Given the description of an element on the screen output the (x, y) to click on. 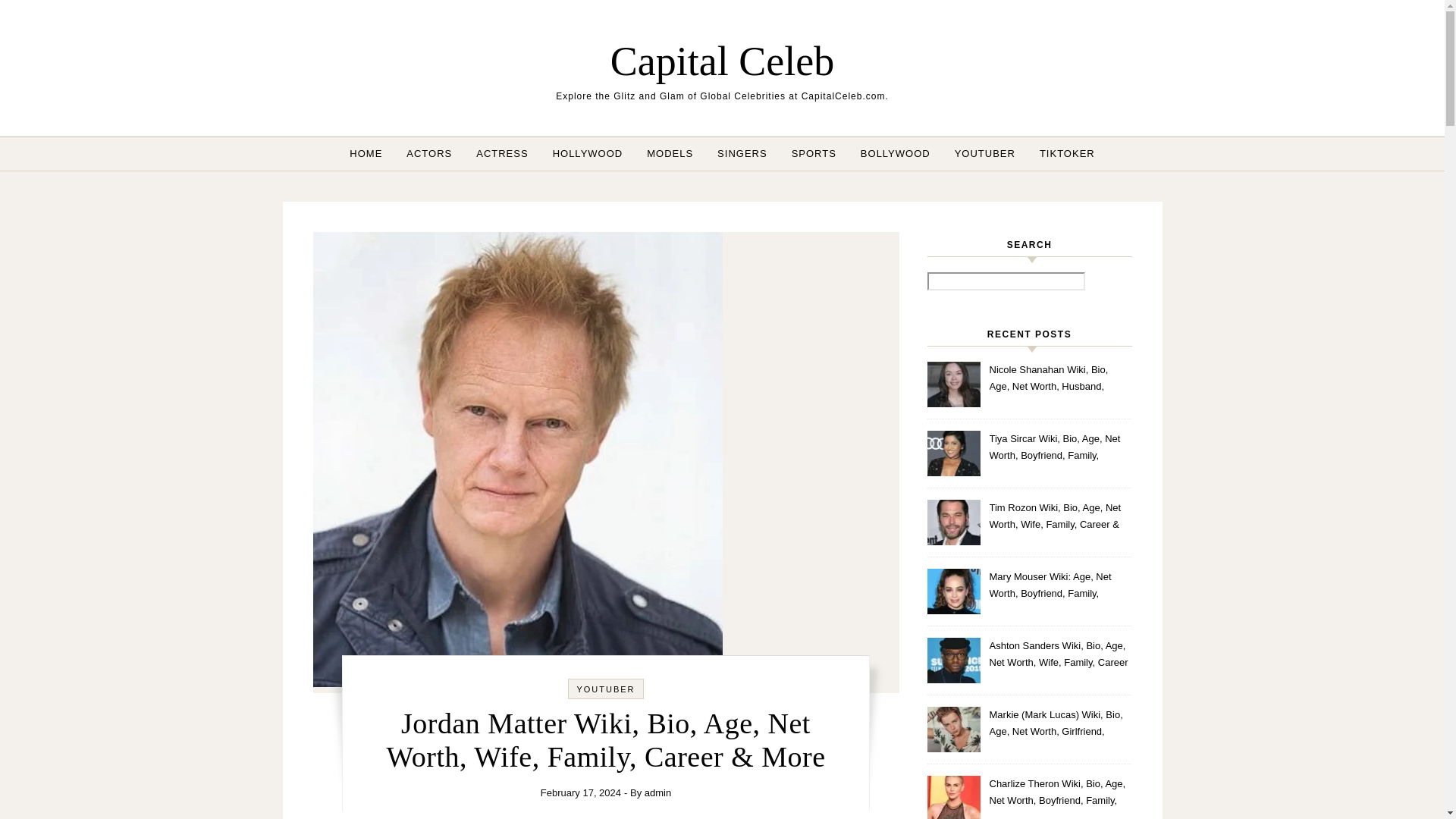
admin (658, 792)
TIKTOKER (1060, 153)
BOLLYWOOD (895, 153)
MODELS (669, 153)
SPORTS (813, 153)
YOUTUBER (605, 688)
HOLLYWOOD (587, 153)
ACTRESS (502, 153)
HOME (371, 153)
ACTORS (429, 153)
Posts by admin (658, 792)
YOUTUBER (984, 153)
Capital Celeb (722, 61)
SINGERS (741, 153)
